Given the description of an element on the screen output the (x, y) to click on. 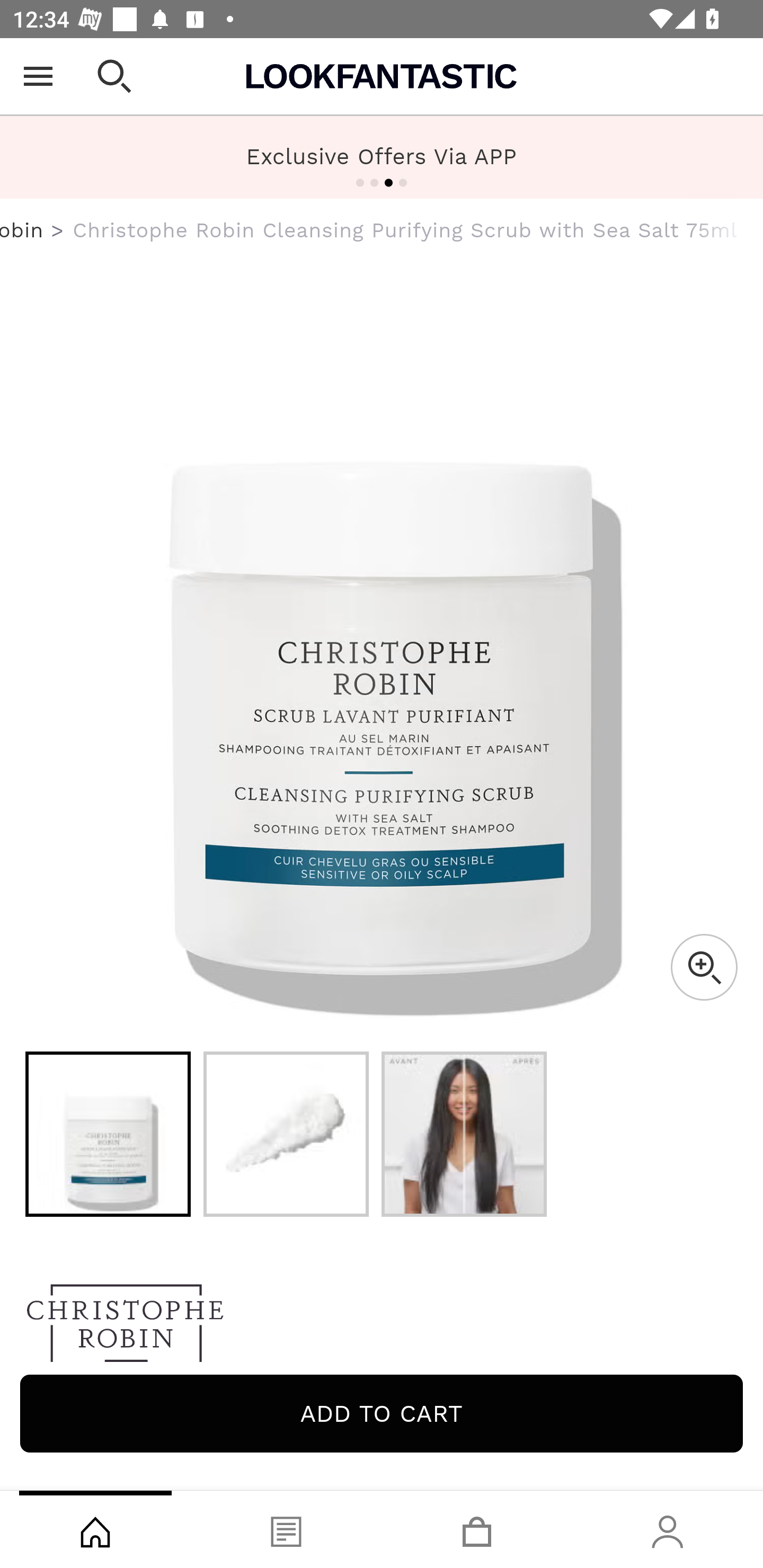
Open Menu (38, 75)
Open search (114, 75)
Lookfantastic USA (381, 75)
Christophe Robin (22, 230)
Zoom (703, 966)
Christophe Robin (381, 1327)
Add to cart (381, 1413)
Shop, tab, 1 of 4 (95, 1529)
Blog, tab, 2 of 4 (285, 1529)
Basket, tab, 3 of 4 (476, 1529)
Account, tab, 4 of 4 (667, 1529)
